Given the description of an element on the screen output the (x, y) to click on. 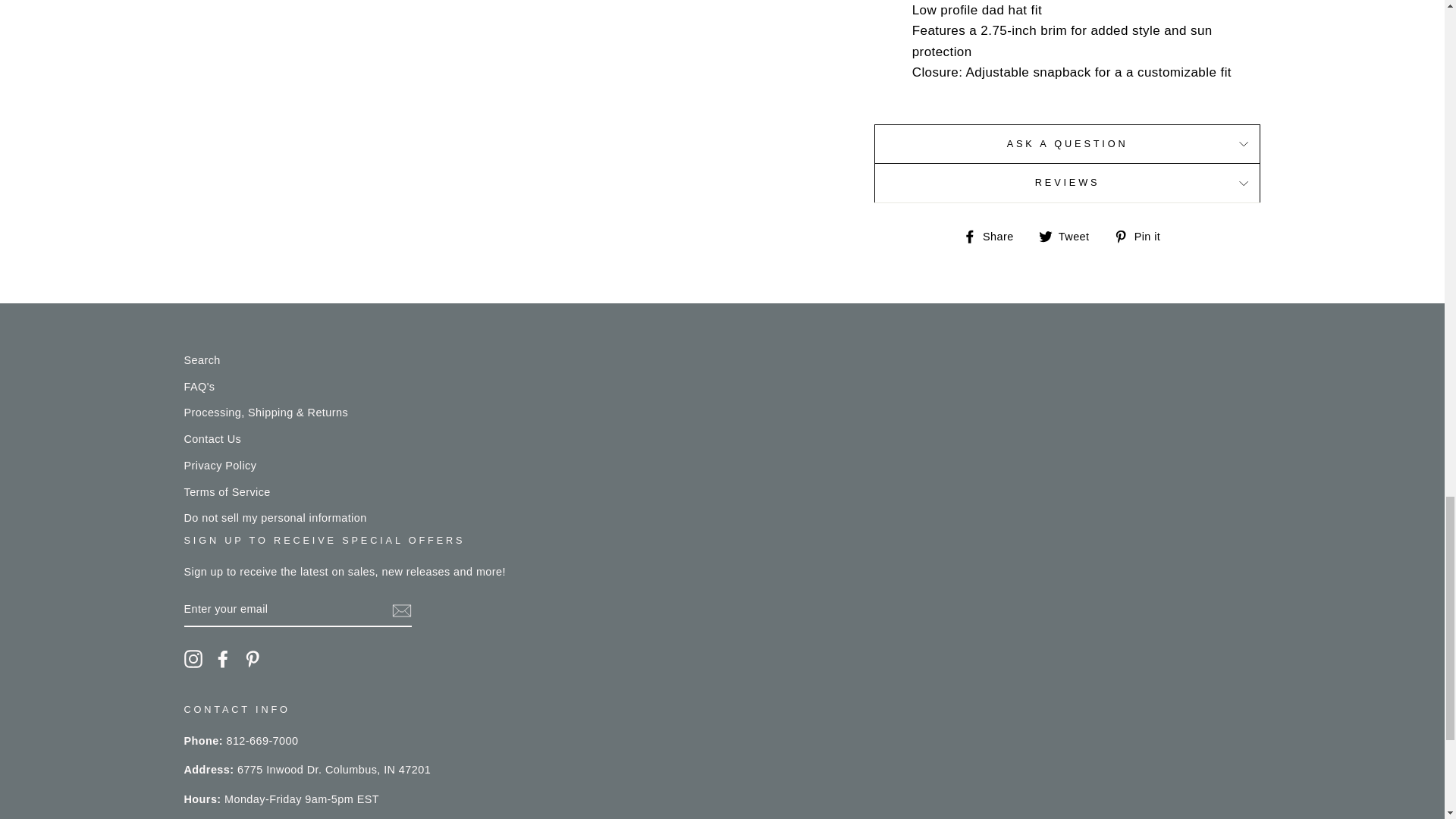
Sew Vivid Designs on Pinterest (251, 659)
Sew Vivid Designs on Instagram (192, 659)
Pin on Pinterest (1142, 236)
Share on Facebook (993, 236)
Sew Vivid Designs on Facebook (222, 659)
Tweet on Twitter (1069, 236)
